Given the description of an element on the screen output the (x, y) to click on. 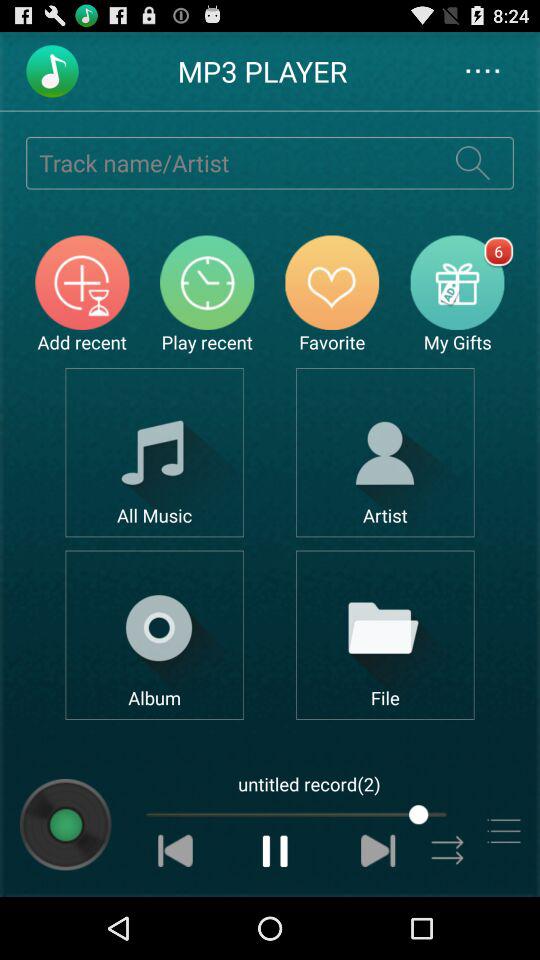
pause (276, 850)
